Given the description of an element on the screen output the (x, y) to click on. 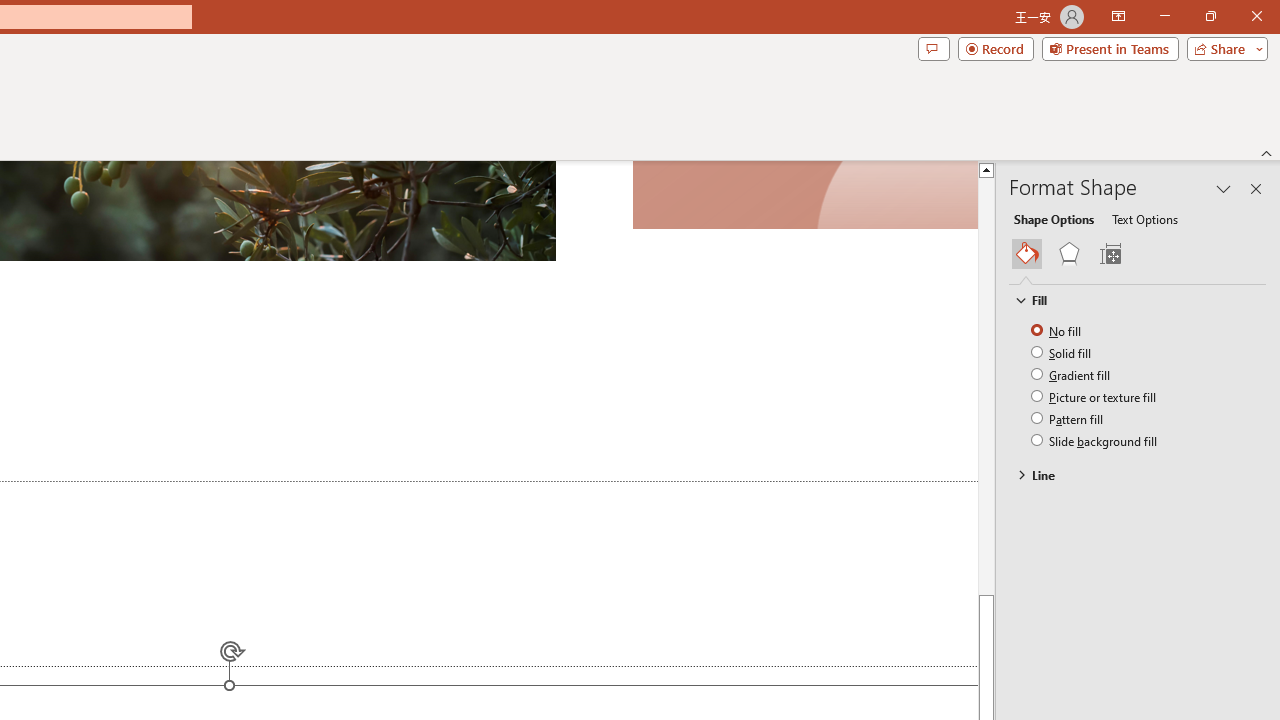
Text Options (1144, 218)
Slide background fill (1095, 440)
Picture or texture fill (1094, 396)
Class: NetUIGalleryContainer (1138, 254)
Shape Options (1054, 218)
No fill (1057, 330)
Fill & Line (1027, 254)
